Given the description of an element on the screen output the (x, y) to click on. 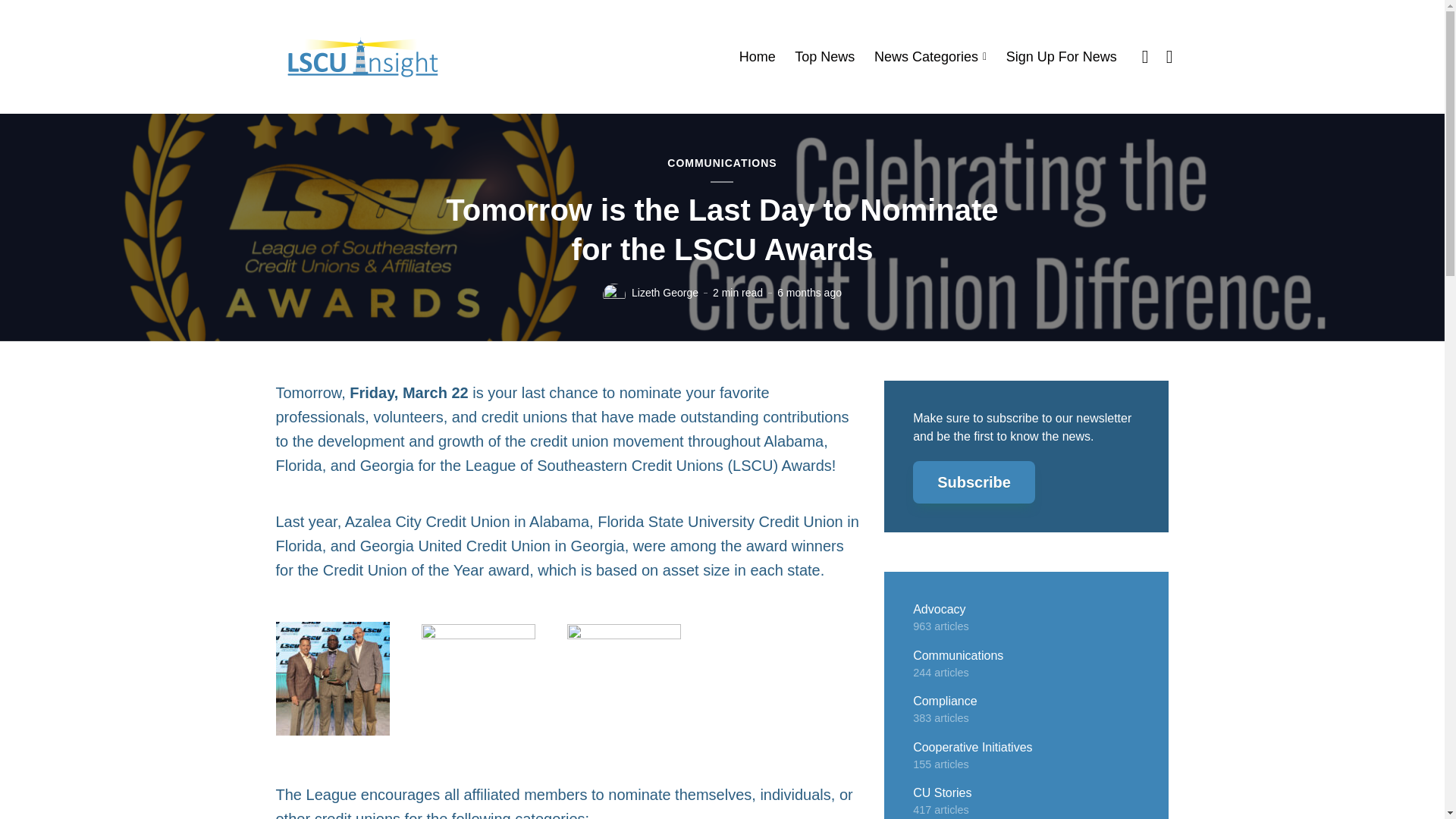
Top News (824, 56)
Lizeth George (664, 292)
Sign Up For News (1061, 56)
Home (757, 56)
COMMUNICATIONS (721, 163)
News Categories (931, 56)
